Given the description of an element on the screen output the (x, y) to click on. 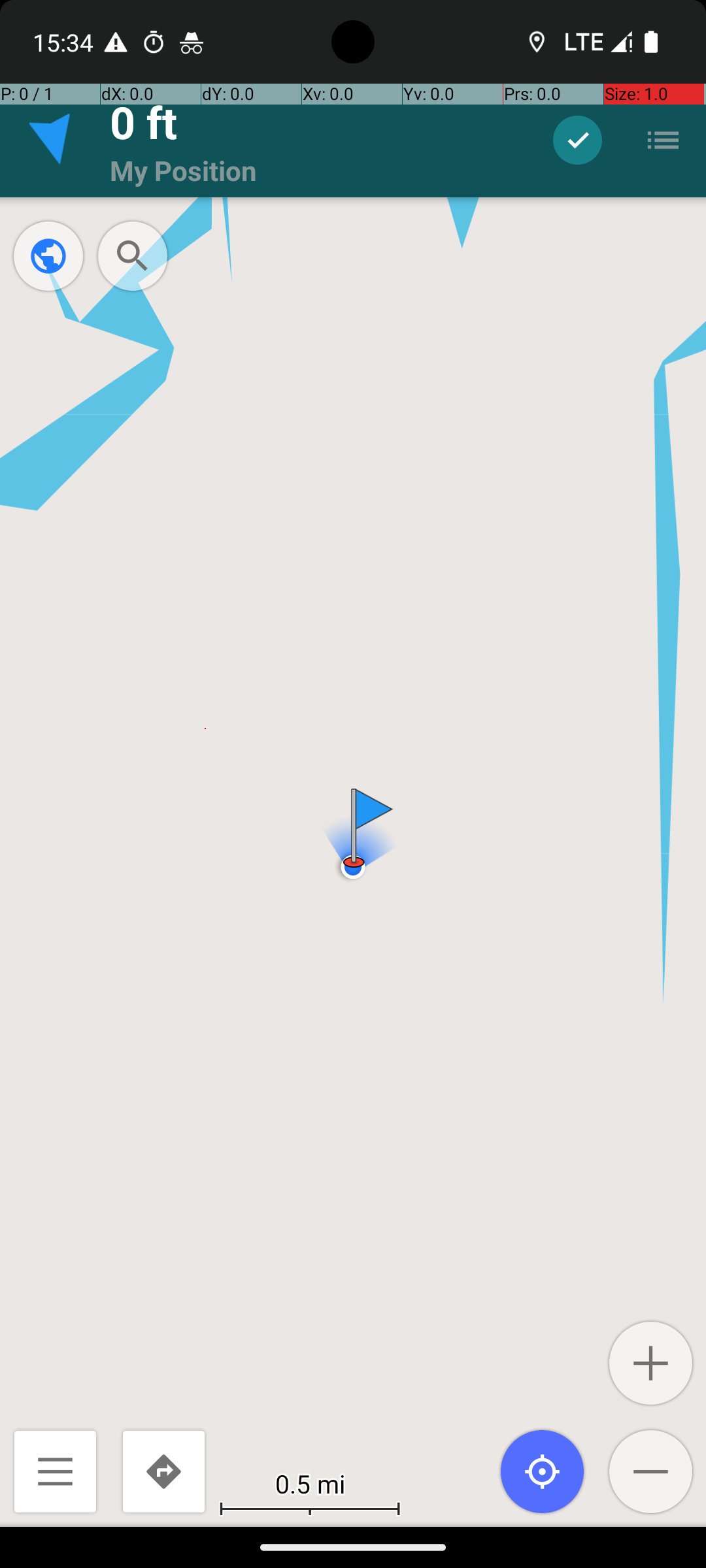
Map Element type: android.view.View (353, 763)
Configure map Element type: android.widget.ImageButton (48, 256)
Back to menu Element type: android.widget.ImageButton (55, 1471)
Route Element type: android.widget.ImageButton (163, 1471)
0.5 mi Element type: android.widget.TextView (309, 1483)
Where am I Element type: android.widget.ImageButton (542, 1471)
Zoom in Element type: android.widget.ImageButton (650, 1362)
Zoom out Element type: android.widget.ImageButton (650, 1471)
0 ft Element type: android.widget.TextView (143, 121)
My Position Element type: android.widget.TextView (182, 169)
Move to history Element type: android.widget.ImageButton (577, 139)
More… Element type: android.widget.ImageButton (663, 139)
